Given the description of an element on the screen output the (x, y) to click on. 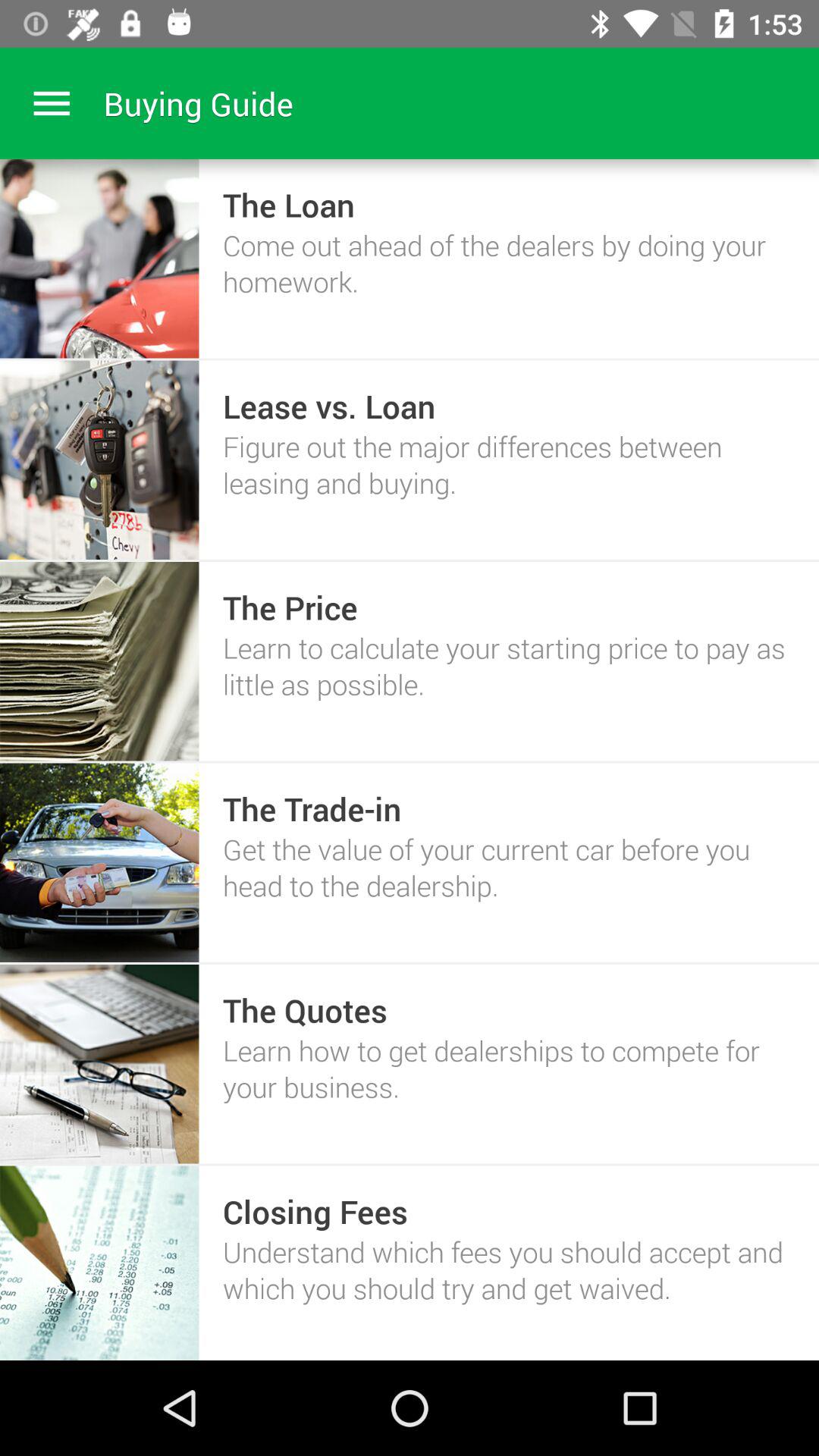
flip until the the trade-in item (311, 808)
